Given the description of an element on the screen output the (x, y) to click on. 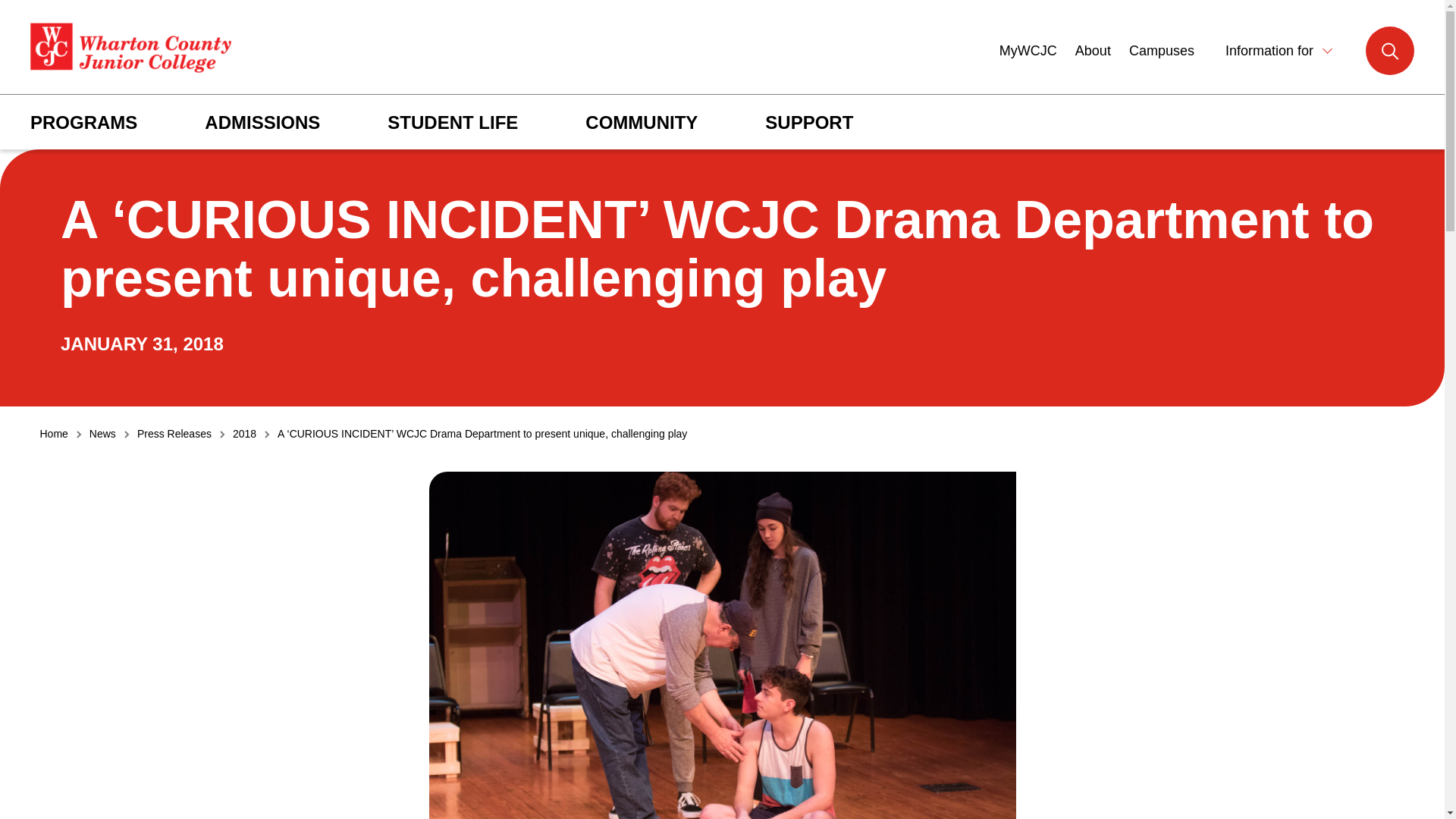
Campuses (1161, 51)
ADMISSIONS (262, 122)
Programs (83, 122)
PROGRAMS (83, 122)
About (1092, 51)
Information for (1280, 50)
Wharton - home page (130, 48)
STUDENT LIFE (452, 122)
About (1092, 51)
